Given the description of an element on the screen output the (x, y) to click on. 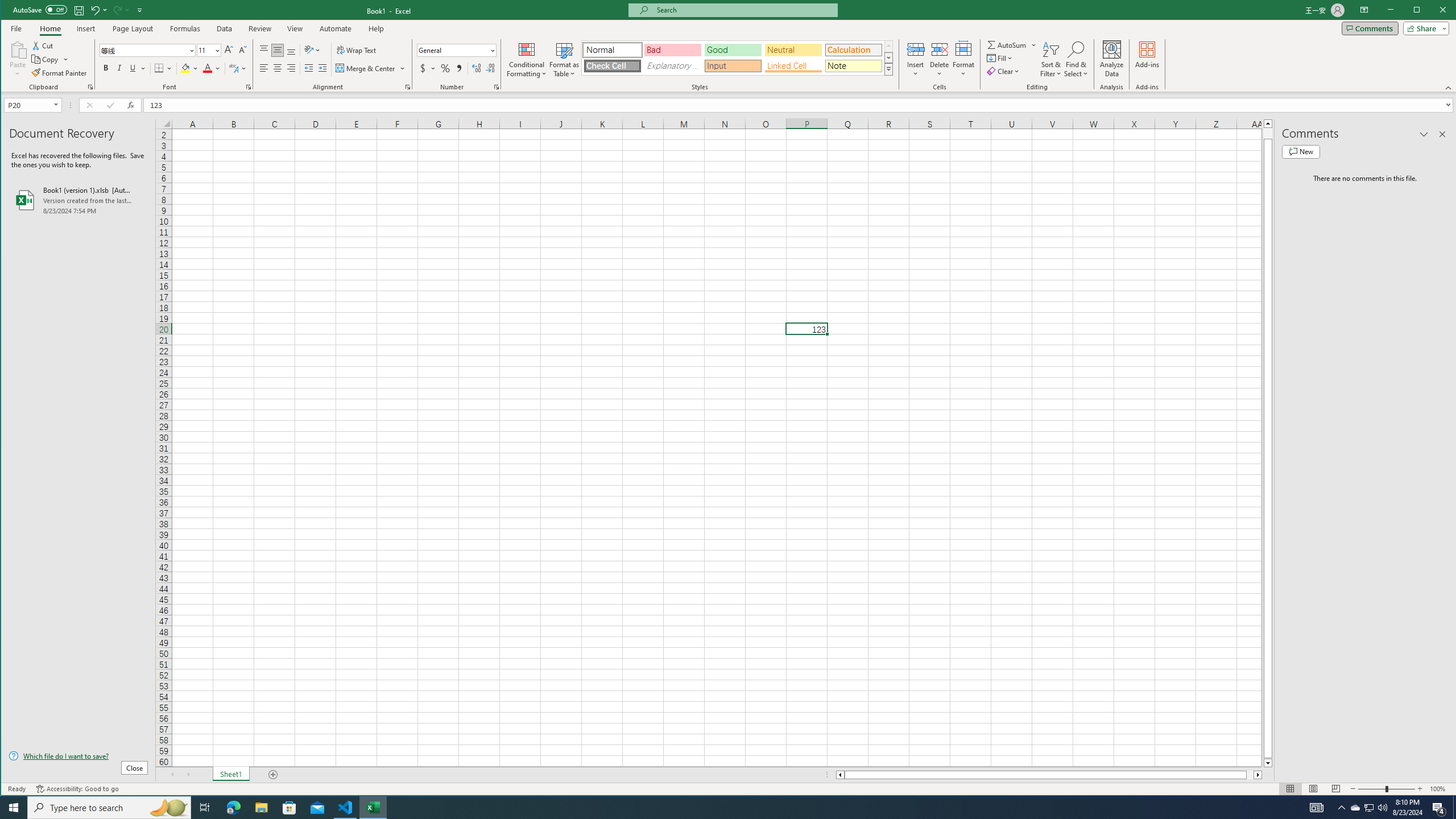
Linked Cell (793, 65)
Comma Style (458, 68)
Start (1368, 807)
Number Format (13, 807)
Action Center, 4 new notifications (453, 50)
Number Format (1439, 807)
Show Phonetic Field (456, 49)
